Given the description of an element on the screen output the (x, y) to click on. 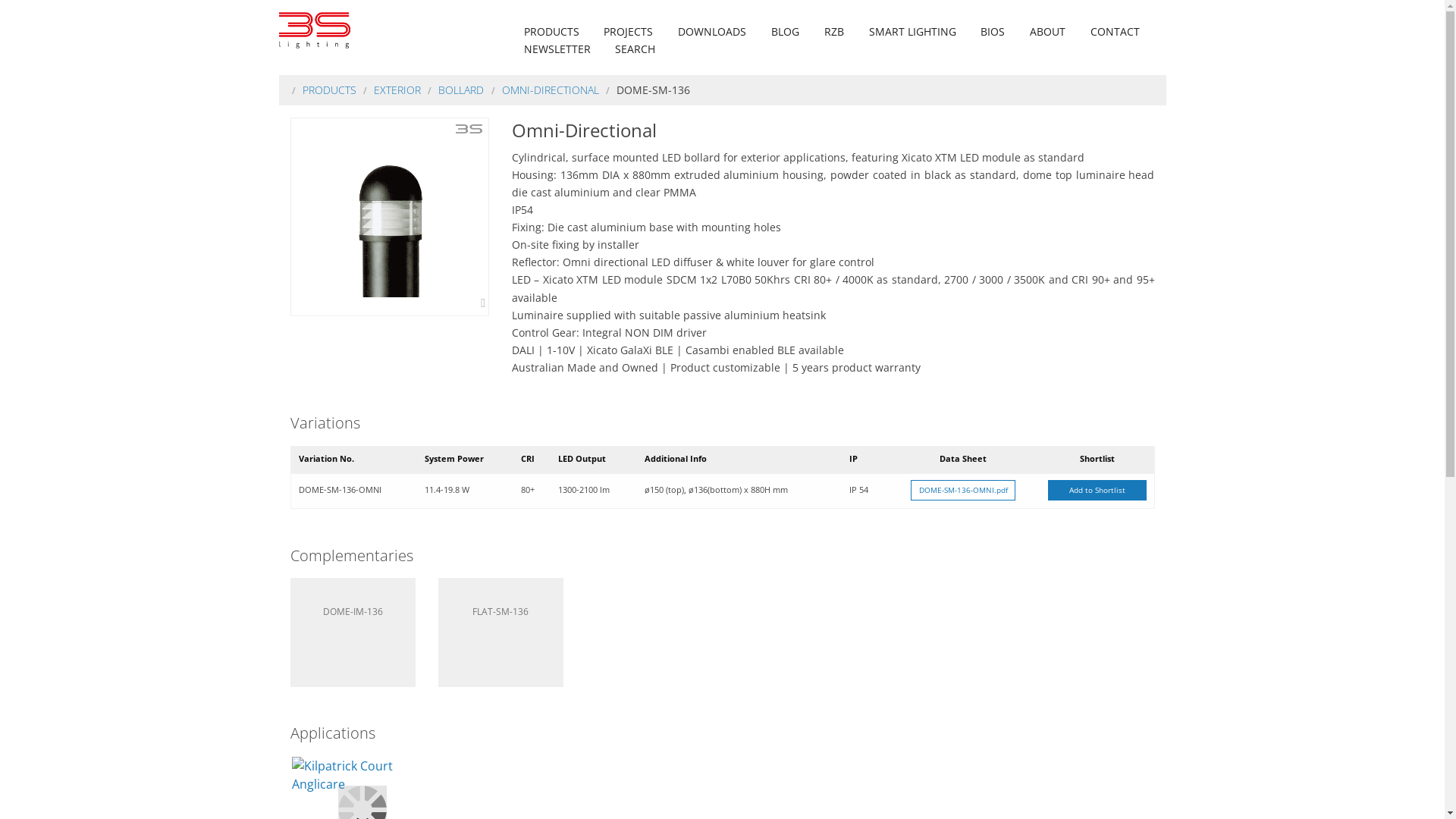
EXTERIOR Element type: text (396, 89)
OMNI-DIRECTIONAL Element type: text (550, 89)
RZB Element type: text (834, 30)
Add to Shortlist Element type: text (1096, 490)
PRODUCTS Element type: text (329, 89)
SEARCH Element type: text (634, 48)
BLOG Element type: text (784, 30)
PRODUCTS Element type: text (551, 30)
NEWSLETTER Element type: text (557, 48)
DOME-SM-136-OMNI.pdf Element type: text (962, 490)
BIOS Element type: text (992, 30)
DOWNLOADS Element type: text (711, 30)
FLAT-SM-136 Element type: text (500, 632)
PROJECTS Element type: text (628, 30)
ABOUT Element type: text (1047, 30)
DOME-IM-136 Element type: text (351, 632)
SMART LIGHTING Element type: text (911, 30)
CONTACT Element type: text (1115, 30)
BOLLARD Element type: text (460, 89)
